Given the description of an element on the screen output the (x, y) to click on. 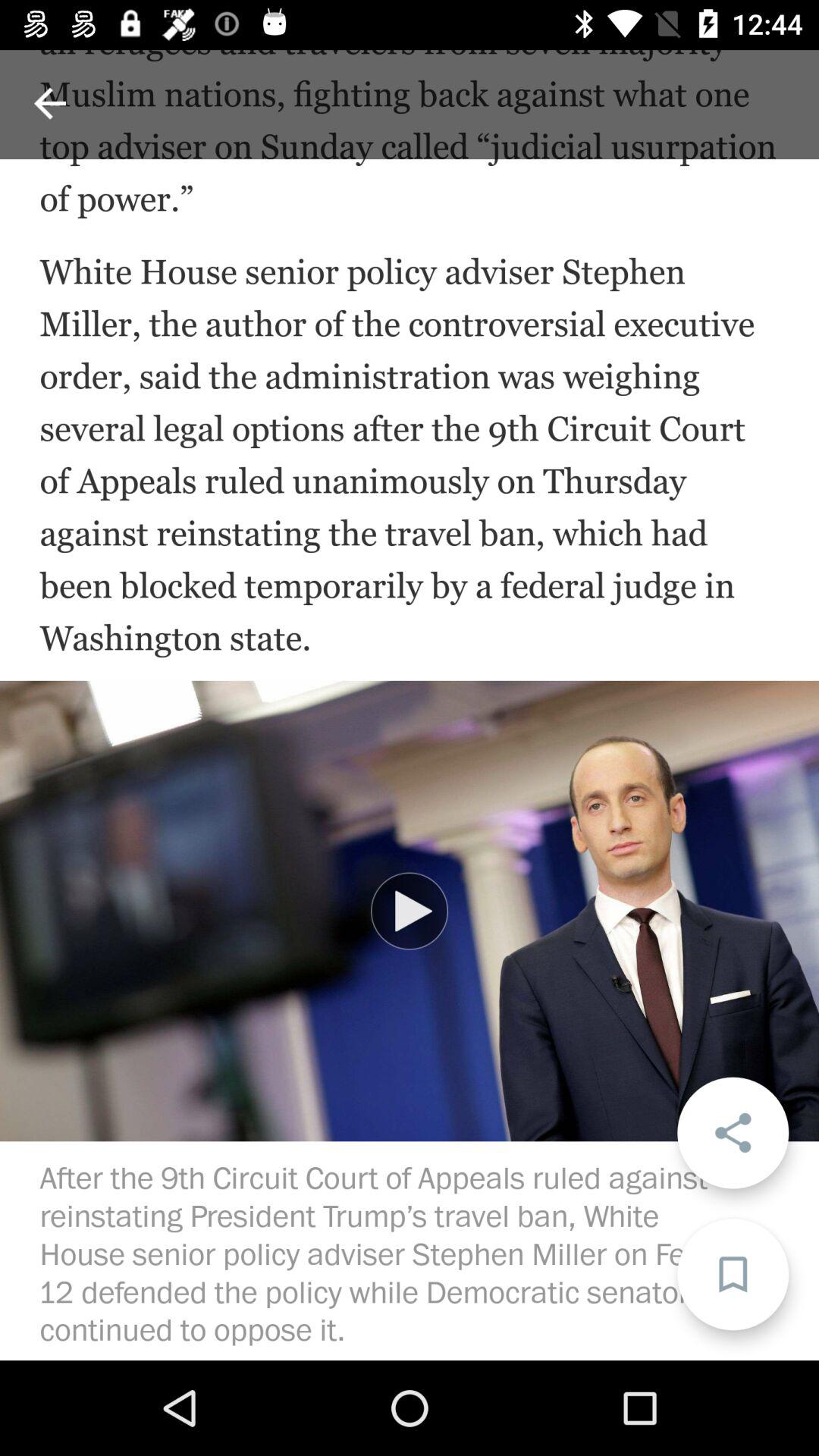
tap app above after the 9th icon (409, 910)
